Given the description of an element on the screen output the (x, y) to click on. 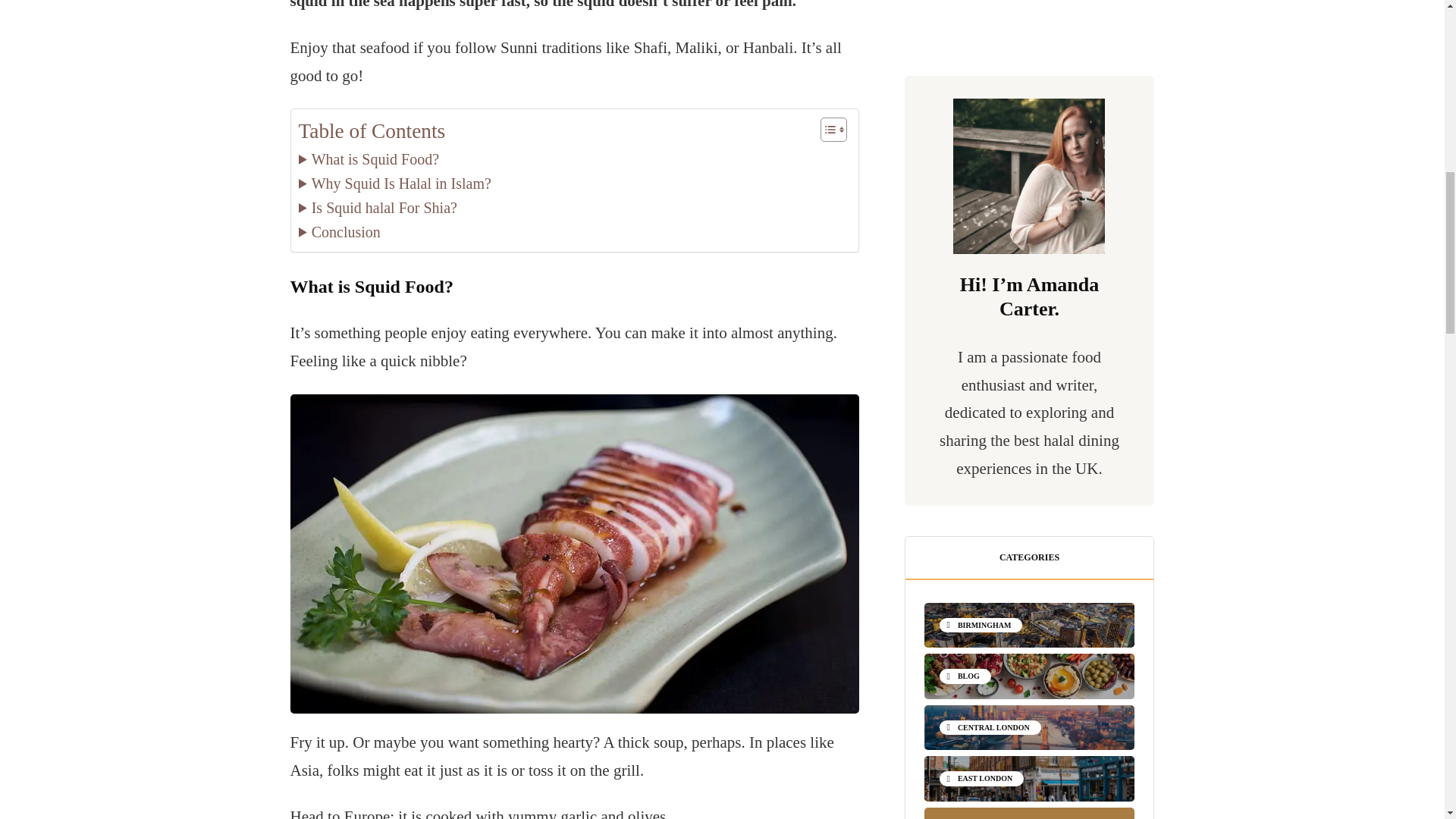
Why Squid Is Halal in Islam? (395, 183)
What is Squid Food? (368, 159)
Conclusion (339, 232)
Why Squid Is Halal in Islam? (395, 183)
What is Squid Food? (368, 159)
Is Squid halal For Shia? (377, 207)
Conclusion (339, 232)
Is Squid halal For Shia? (377, 207)
